Given the description of an element on the screen output the (x, y) to click on. 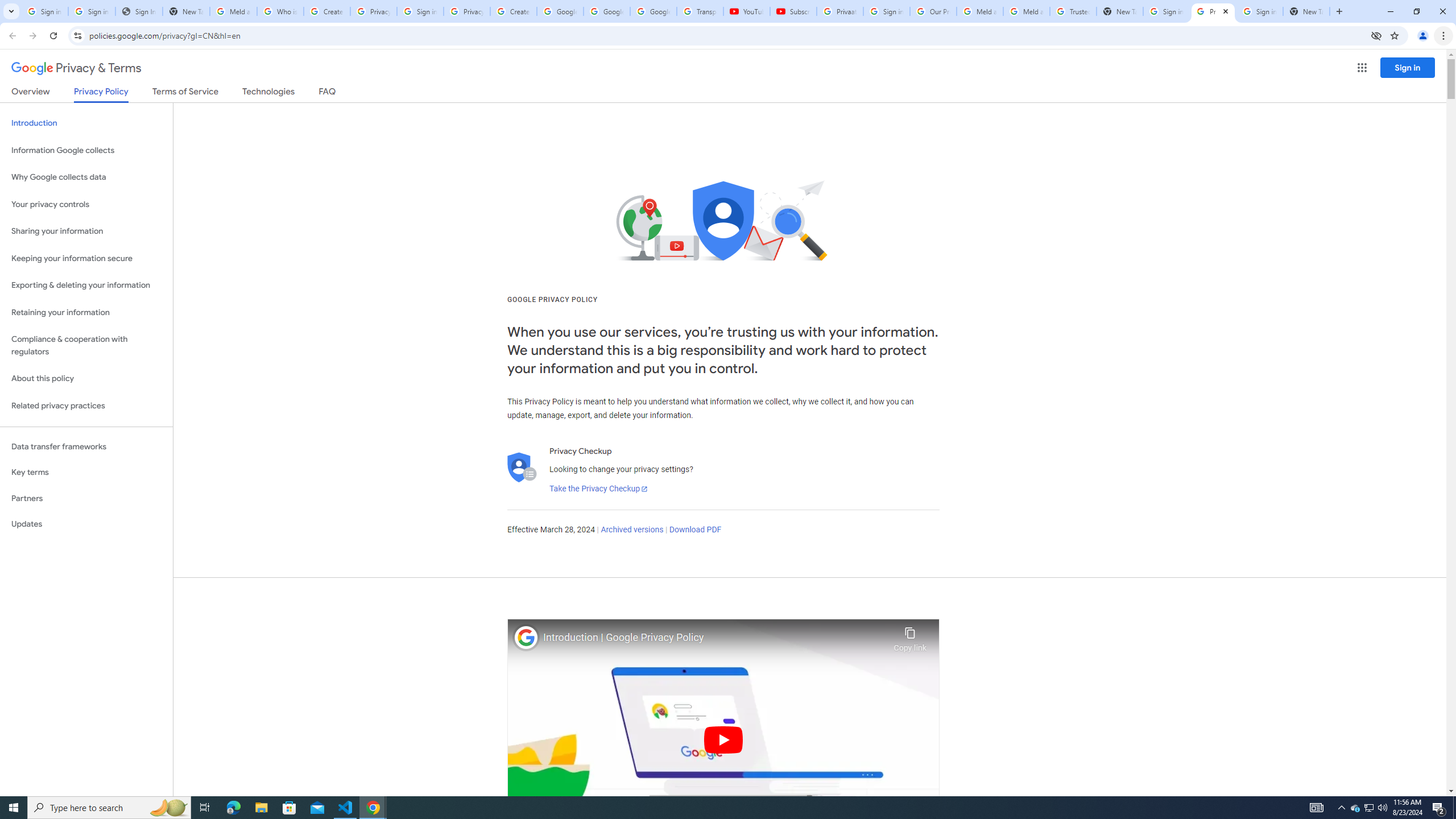
Partners (86, 497)
Create your Google Account (326, 11)
Download PDF (695, 529)
Sign in - Google Accounts (419, 11)
About this policy (86, 379)
